Given the description of an element on the screen output the (x, y) to click on. 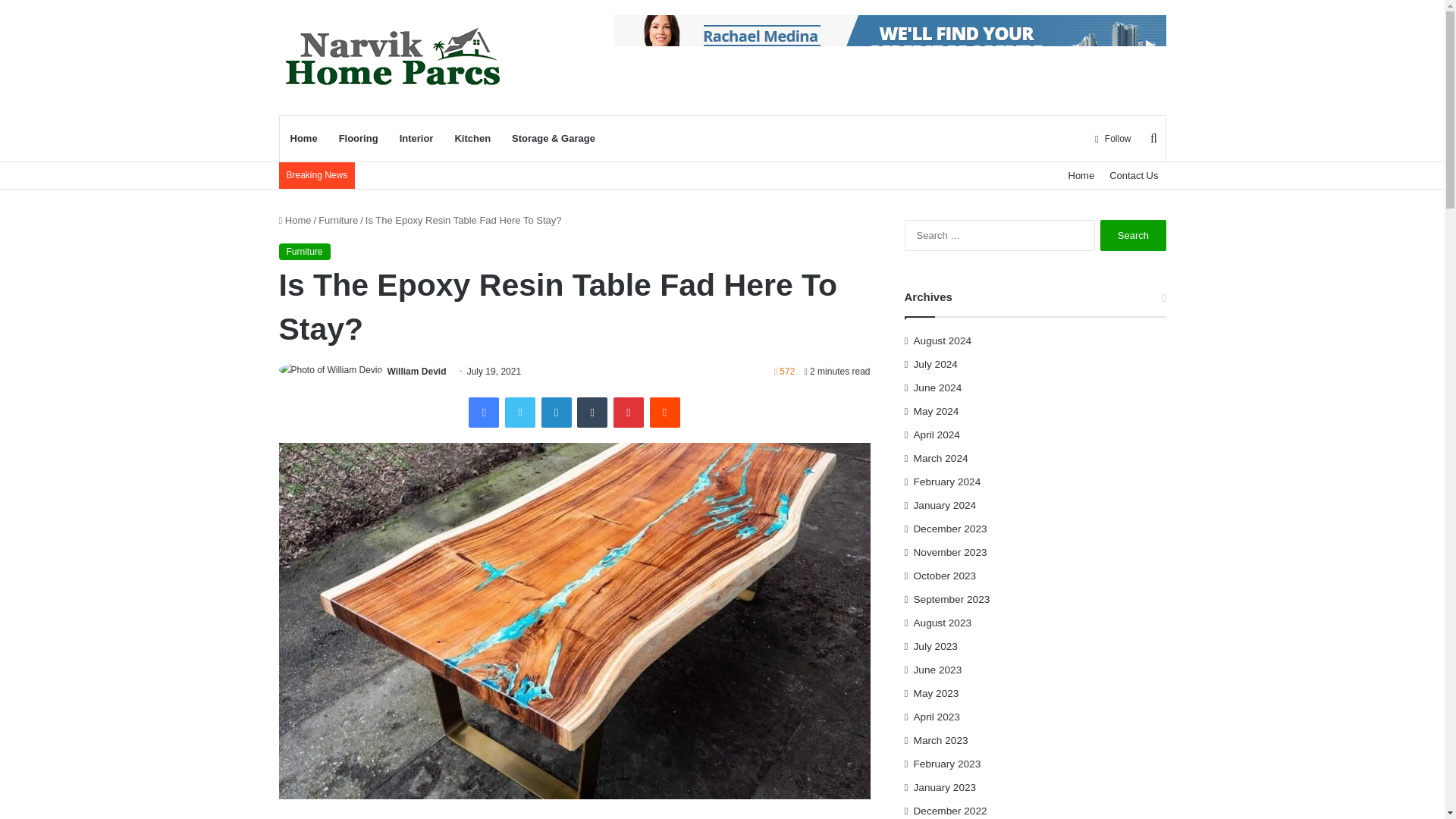
Kitchen (472, 138)
Home (303, 138)
William Devid (416, 371)
Home (1080, 175)
Facebook (483, 412)
Flooring (358, 138)
Contact Us (1134, 175)
Reddit (664, 412)
Furniture (338, 220)
LinkedIn (556, 412)
Pinterest (627, 412)
Twitter (520, 412)
Search (1133, 235)
Tumblr (591, 412)
Facebook (483, 412)
